Given the description of an element on the screen output the (x, y) to click on. 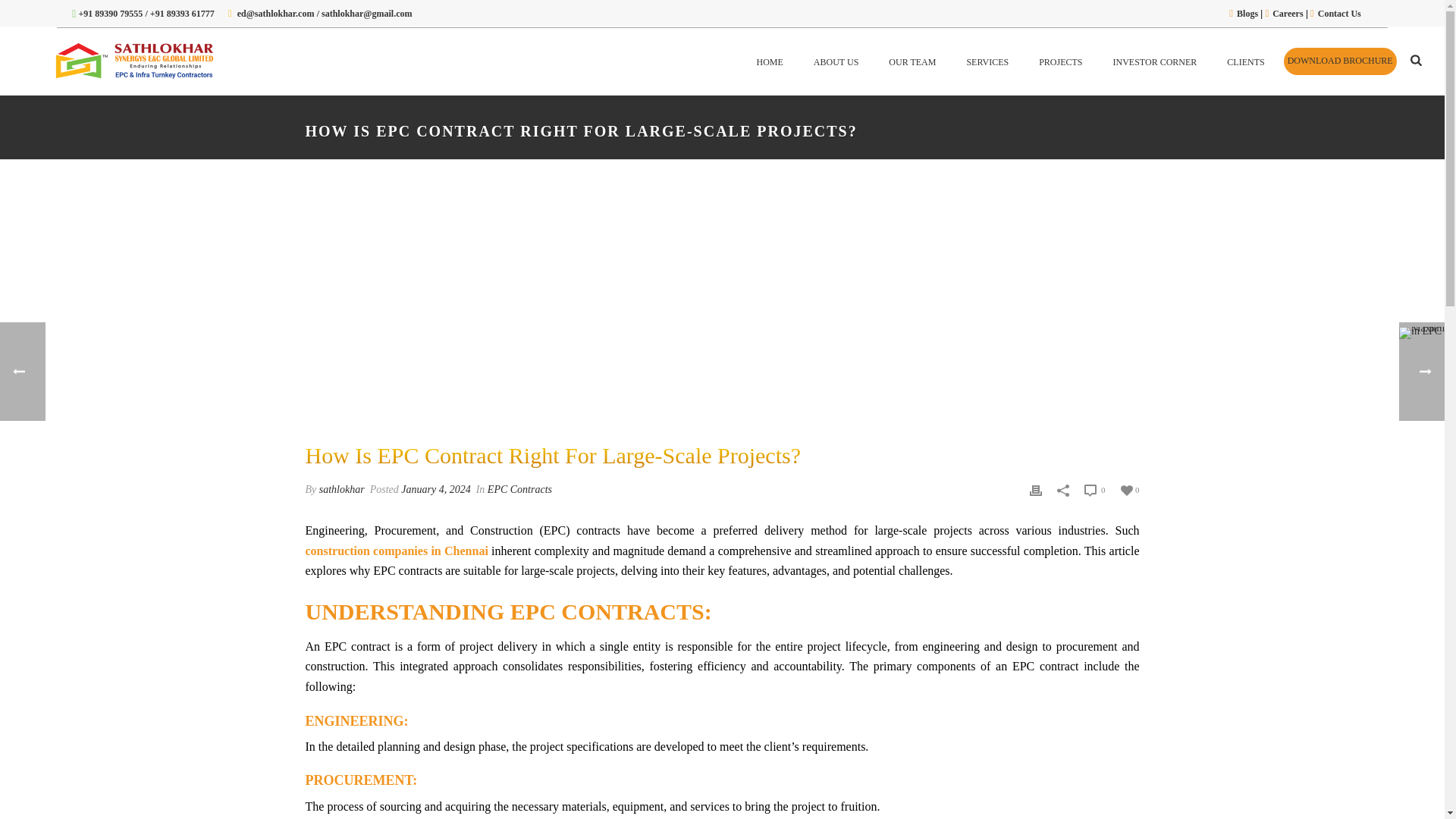
OUR TEAM (911, 61)
CLIENTS (1245, 61)
CLIENTS (1245, 61)
SERVICES (986, 61)
ABOUT US (835, 61)
Posts by sathlokhar (341, 489)
ABOUT US (835, 61)
PROJECTS (1060, 61)
Blogs (1246, 13)
Contact Us (1339, 13)
